Given the description of an element on the screen output the (x, y) to click on. 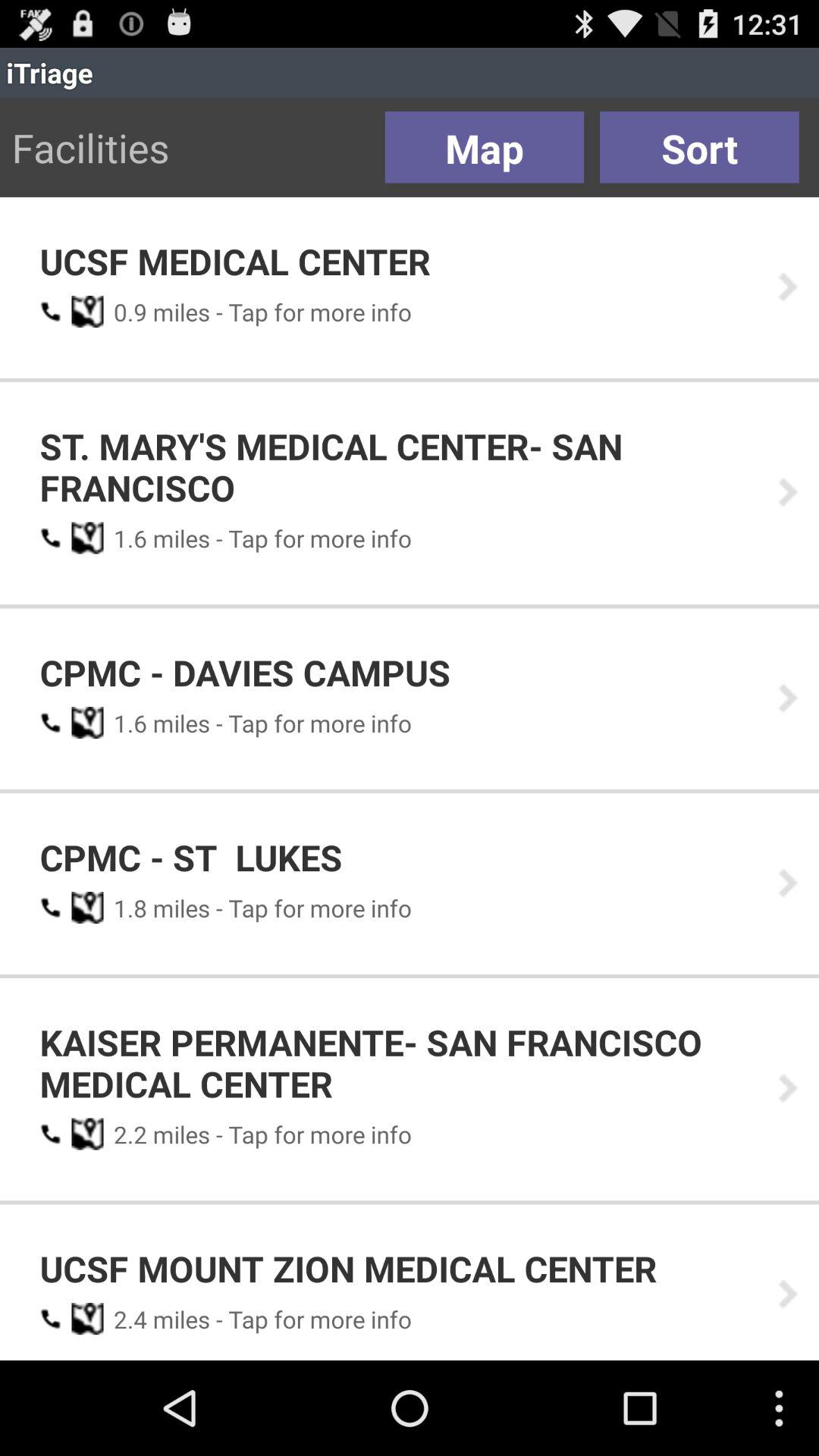
swipe to the sort item (699, 147)
